Given the description of an element on the screen output the (x, y) to click on. 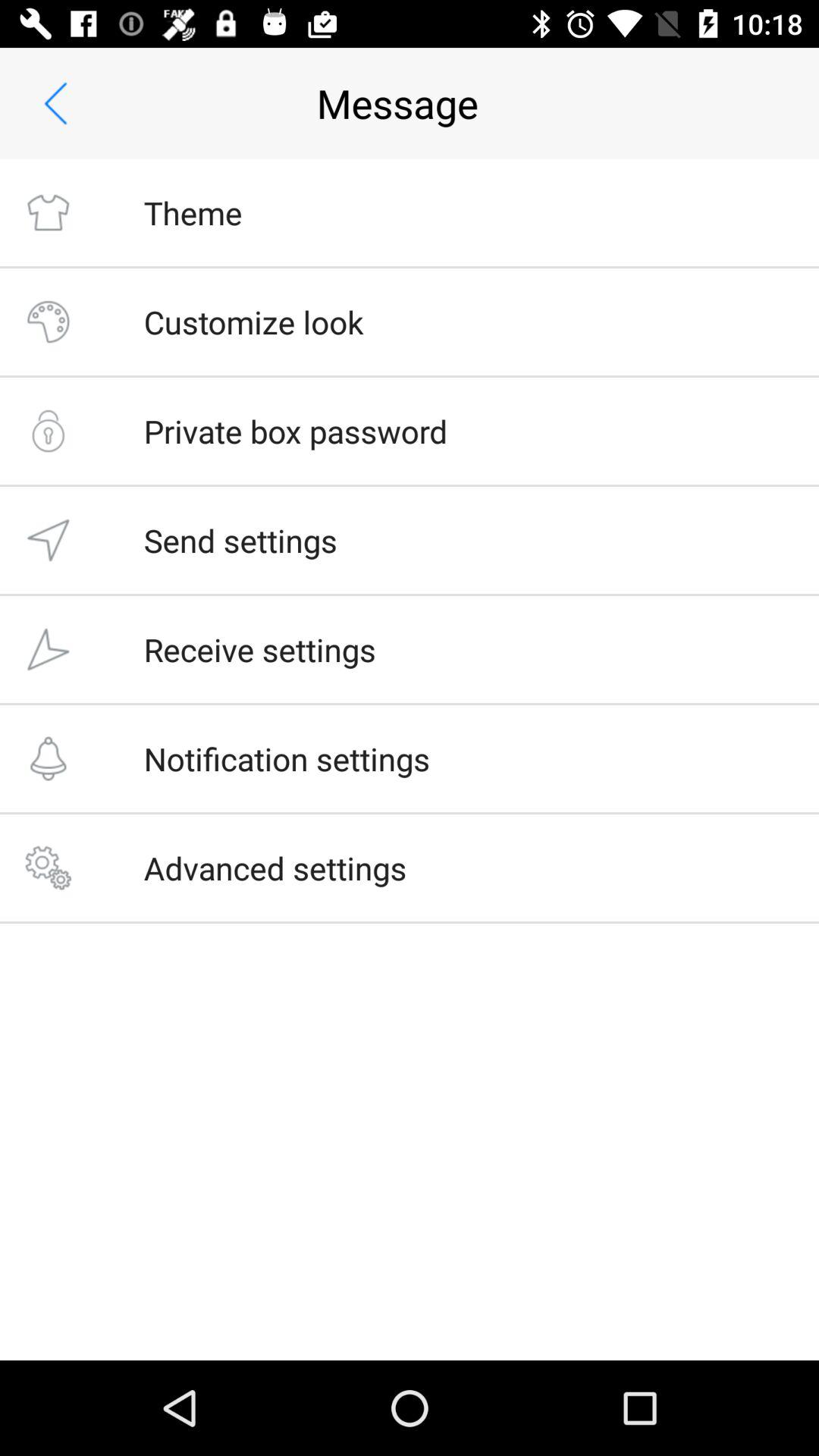
turn on the icon below the receive settings item (286, 758)
